Given the description of an element on the screen output the (x, y) to click on. 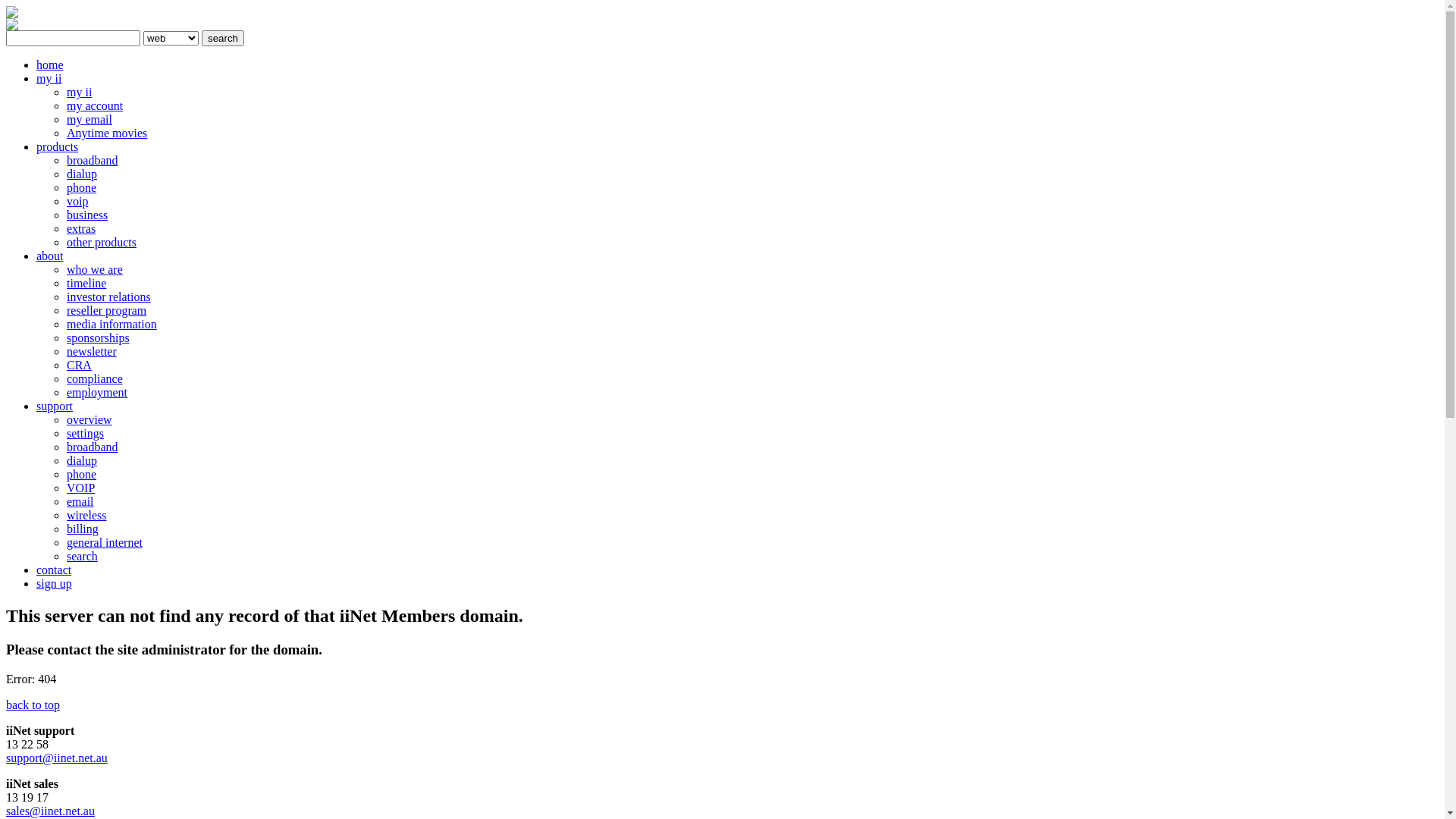
extras Element type: text (80, 228)
sign up Element type: text (54, 583)
VOIP Element type: text (80, 487)
phone Element type: text (81, 187)
my ii Element type: text (48, 78)
employment Element type: text (96, 391)
broadband Element type: text (92, 159)
compliance Element type: text (94, 378)
overview Element type: text (89, 419)
search Element type: text (222, 38)
support@iinet.net.au Element type: text (56, 757)
support Element type: text (54, 405)
other products Element type: text (101, 241)
sponsorships Element type: text (97, 337)
reseller program Element type: text (106, 310)
settings Element type: text (84, 432)
investor relations Element type: text (108, 296)
general internet Element type: text (104, 542)
products Element type: text (57, 146)
Anytime movies Element type: text (106, 132)
dialup Element type: text (81, 173)
my ii Element type: text (78, 91)
my email Element type: text (89, 118)
contact Element type: text (53, 569)
billing Element type: text (82, 528)
back to top Element type: text (32, 704)
dialup Element type: text (81, 460)
home Element type: text (49, 64)
timeline Element type: text (86, 282)
email Element type: text (80, 501)
voip Element type: text (76, 200)
about Element type: text (49, 255)
CRA Element type: text (78, 364)
my account Element type: text (94, 105)
wireless Element type: text (86, 514)
who we are Element type: text (94, 269)
business Element type: text (86, 214)
phone Element type: text (81, 473)
sales@iinet.net.au Element type: text (50, 810)
search Element type: text (81, 555)
broadband Element type: text (92, 446)
newsletter Element type: text (91, 351)
media information Element type: text (111, 323)
